Given the description of an element on the screen output the (x, y) to click on. 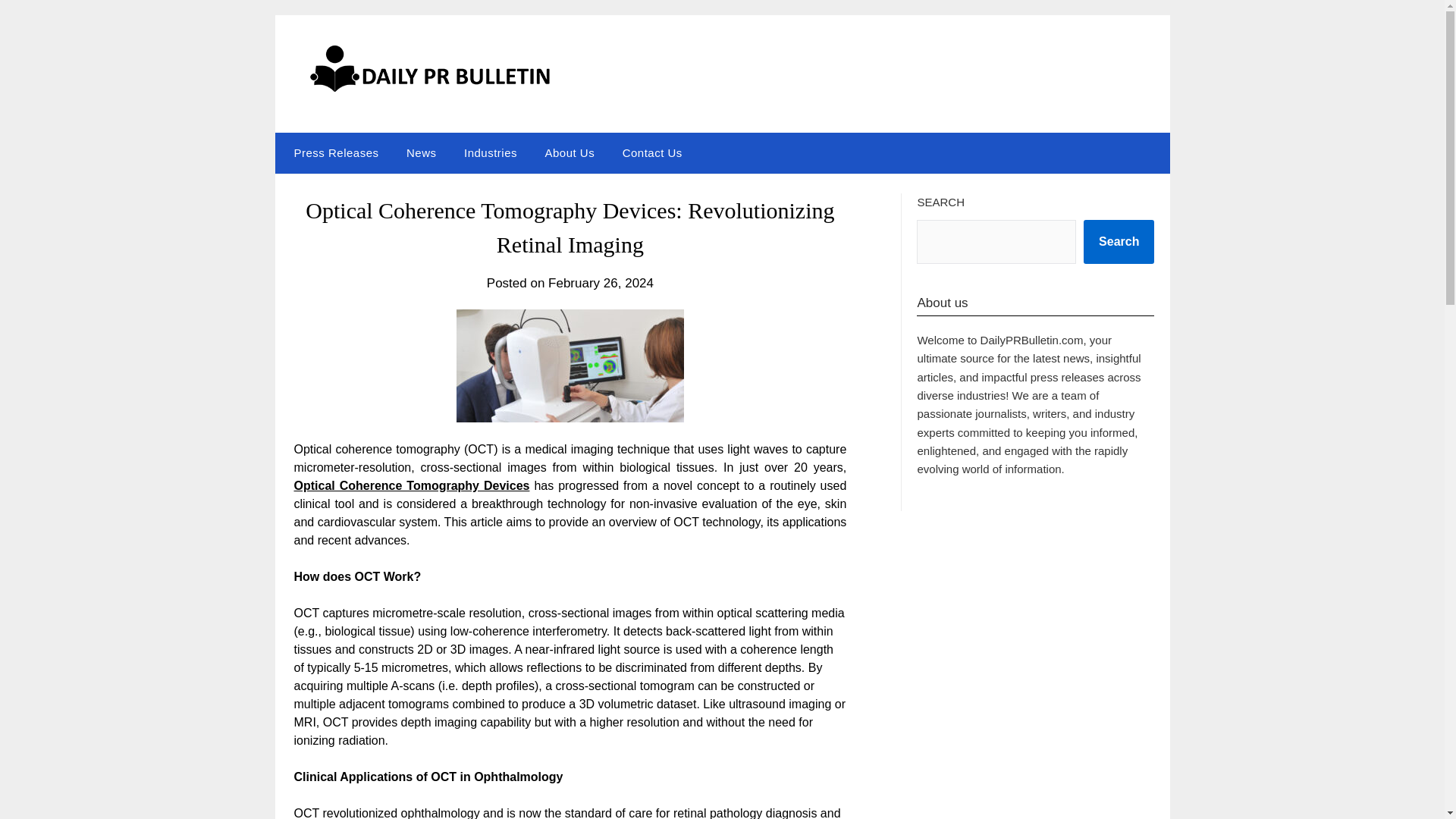
Press Releases (332, 152)
About Us (569, 152)
Optical Coherence Tomography Devices (411, 485)
News (421, 152)
Contact Us (652, 152)
Industries (490, 152)
Search (1118, 241)
